Given the description of an element on the screen output the (x, y) to click on. 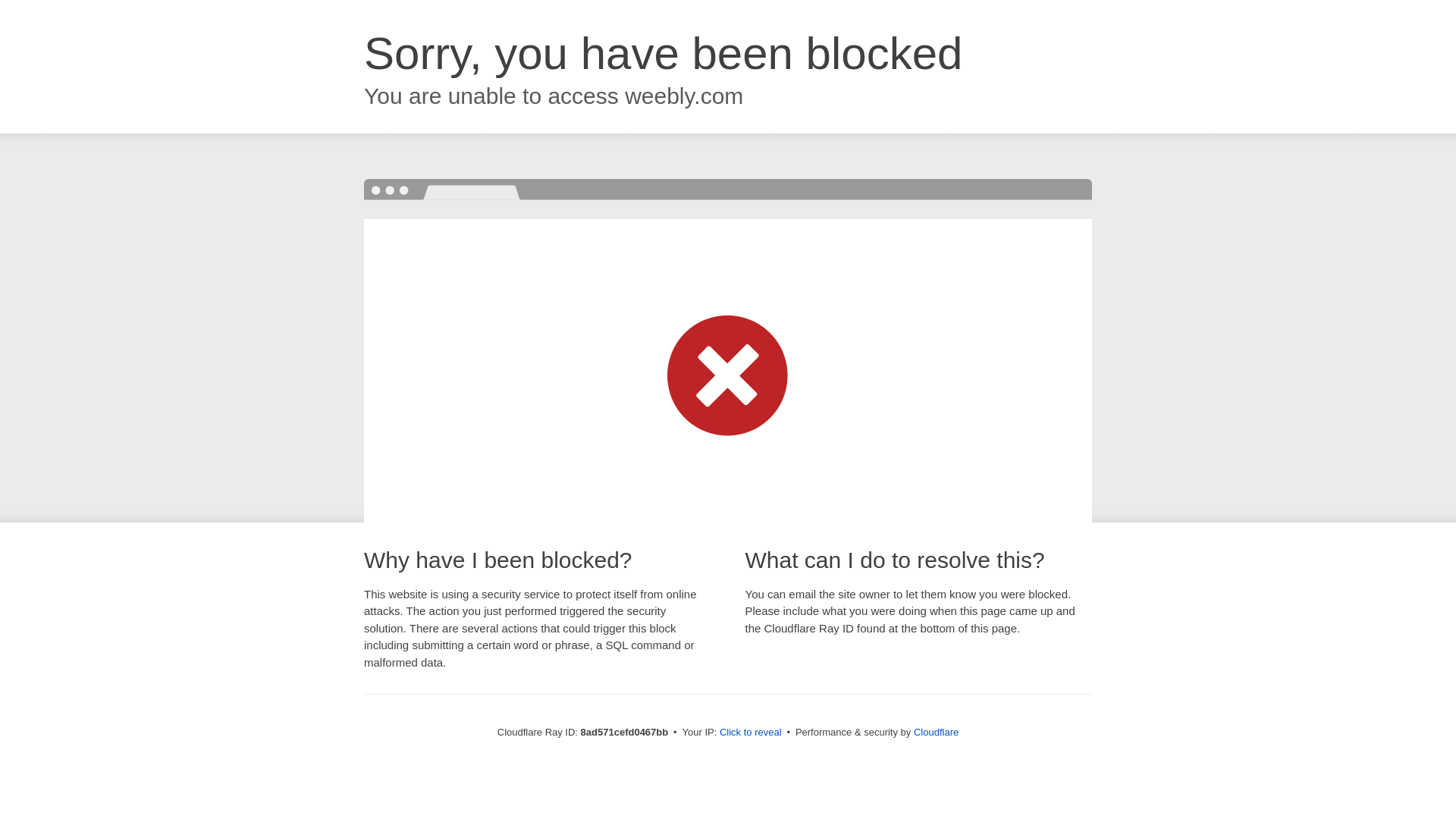
Cloudflare (936, 731)
Click to reveal (750, 732)
